Given the description of an element on the screen output the (x, y) to click on. 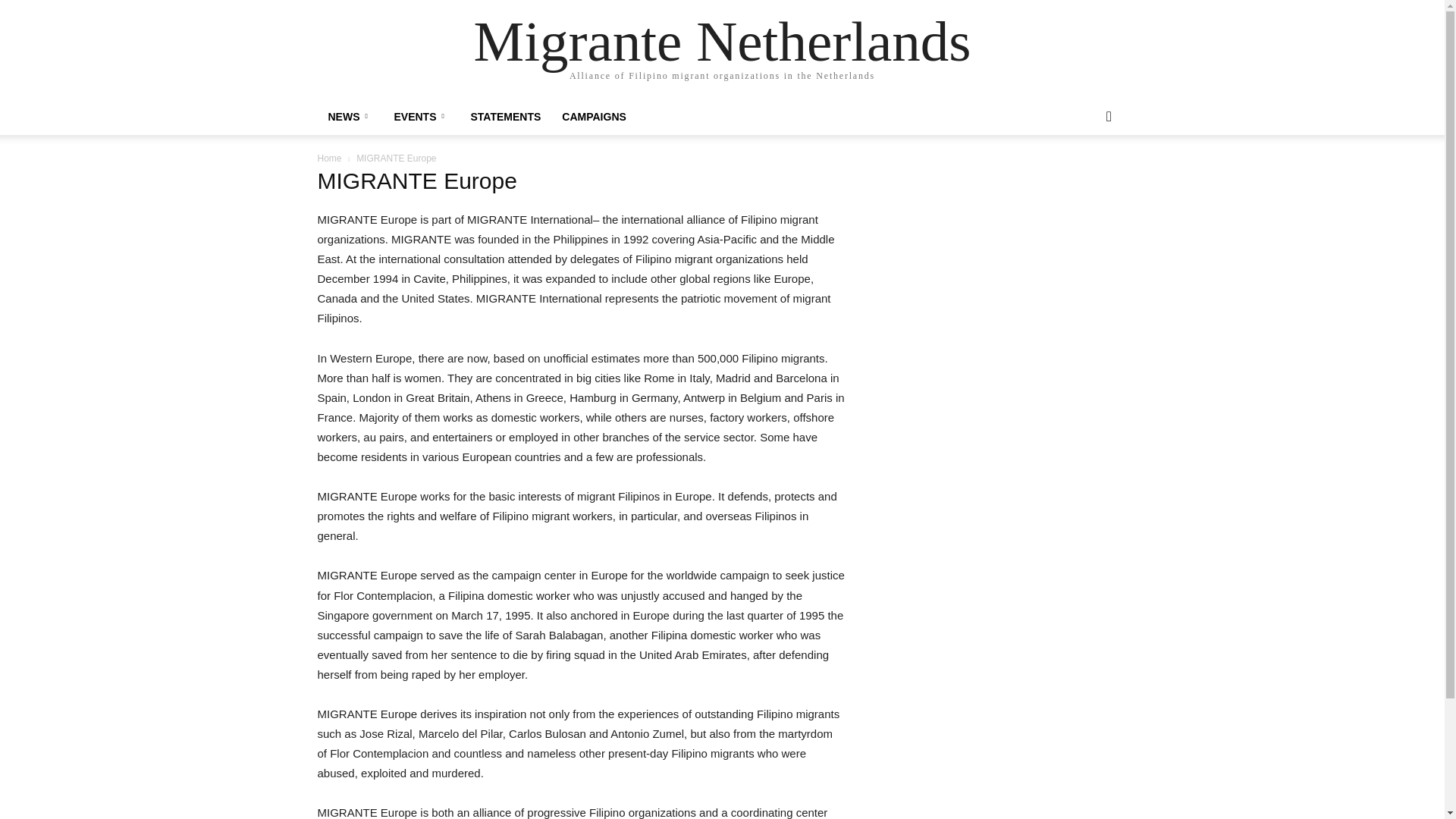
NEWS (349, 116)
STATEMENTS (505, 116)
CAMPAIGNS (594, 116)
Search (1085, 177)
Migrante Netherlands (722, 41)
EVENTS (422, 116)
